Given the description of an element on the screen output the (x, y) to click on. 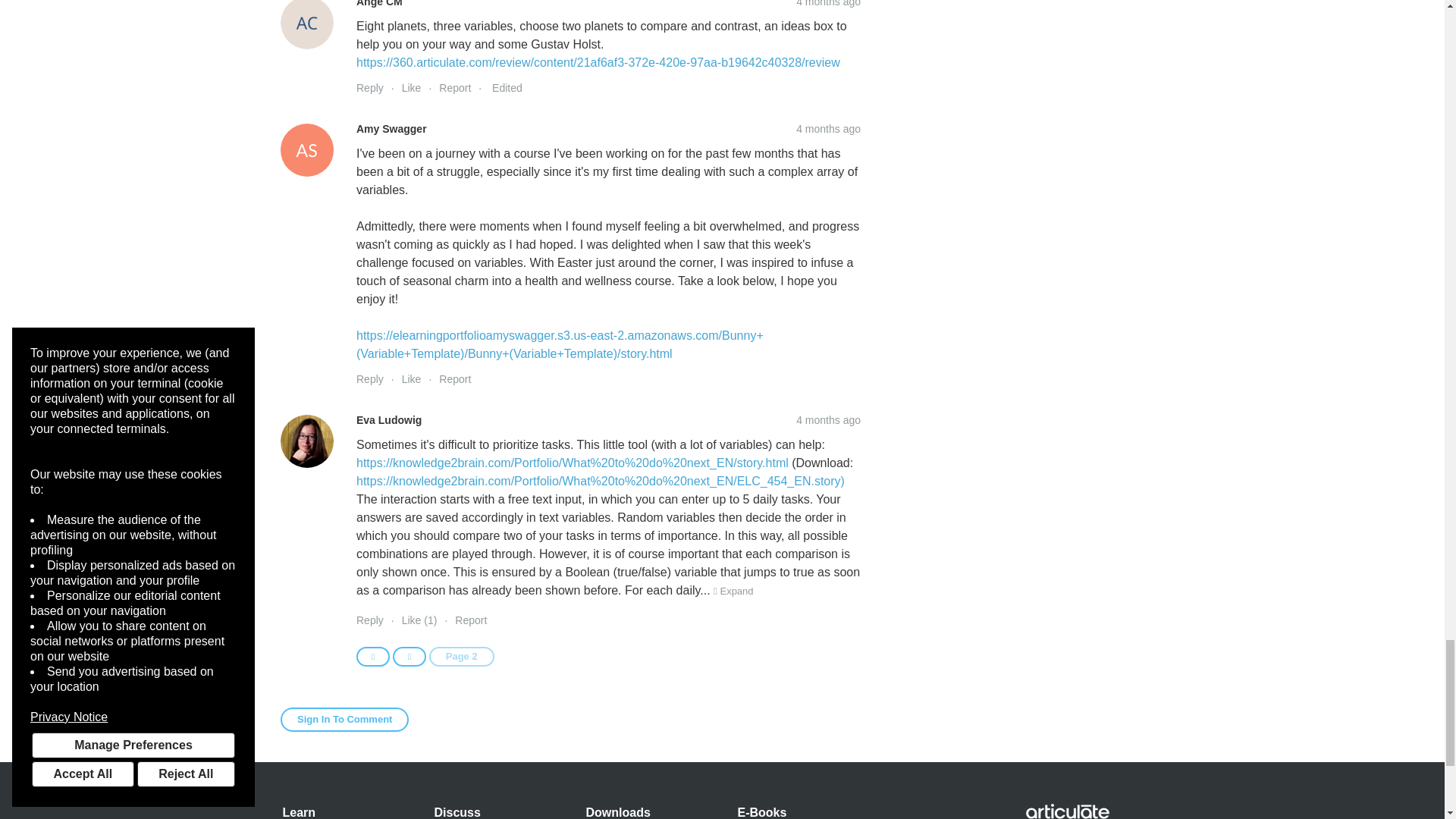
Amy Swagger (307, 149)
Eva Ludowig (307, 440)
Ange CM (307, 24)
